Given the description of an element on the screen output the (x, y) to click on. 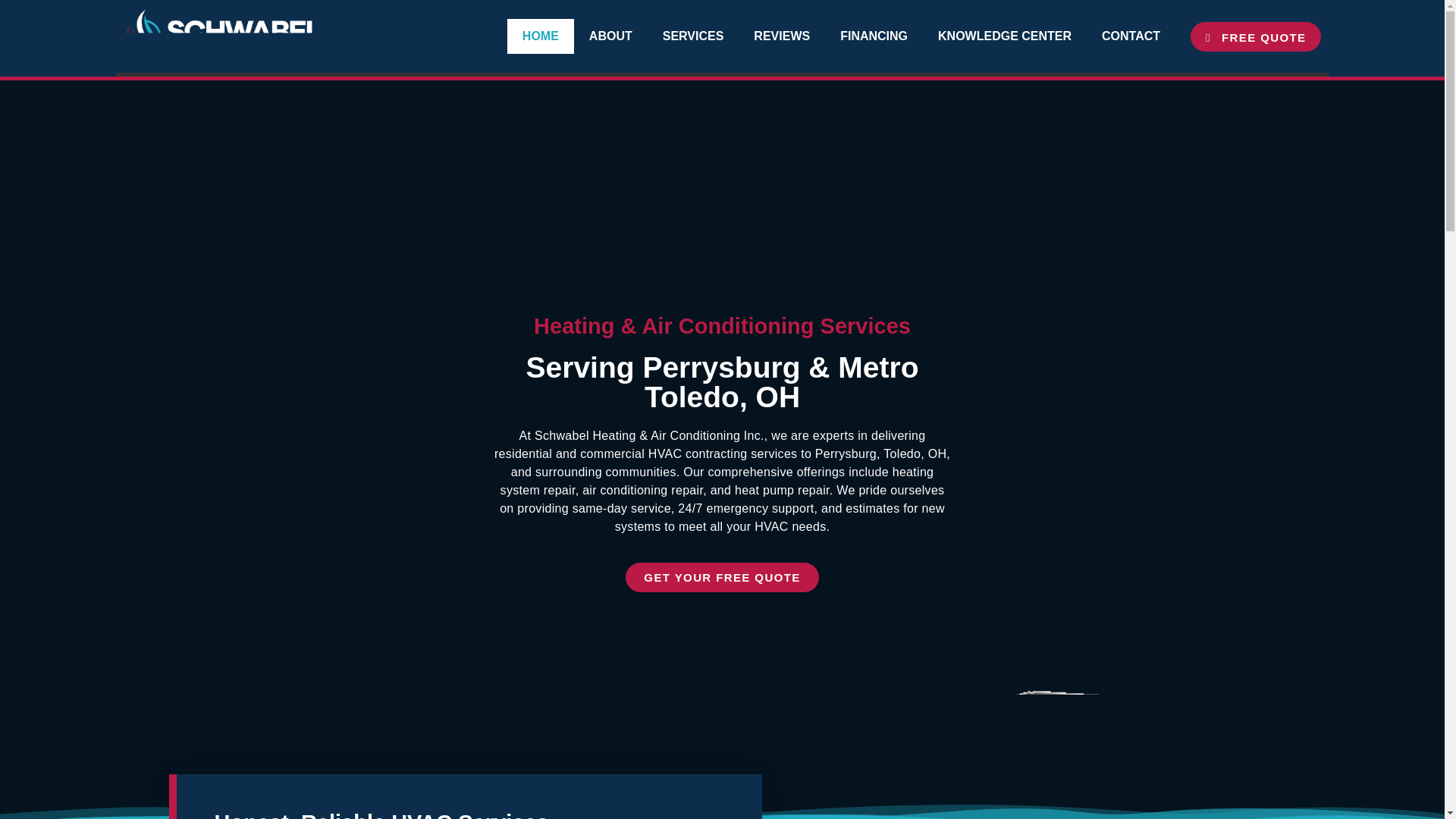
HOME (539, 36)
SERVICES (693, 36)
FINANCING (874, 36)
REVIEWS (781, 36)
CONTACT (1130, 36)
ABOUT (610, 36)
KNOWLEDGE CENTER (1004, 36)
